Given the description of an element on the screen output the (x, y) to click on. 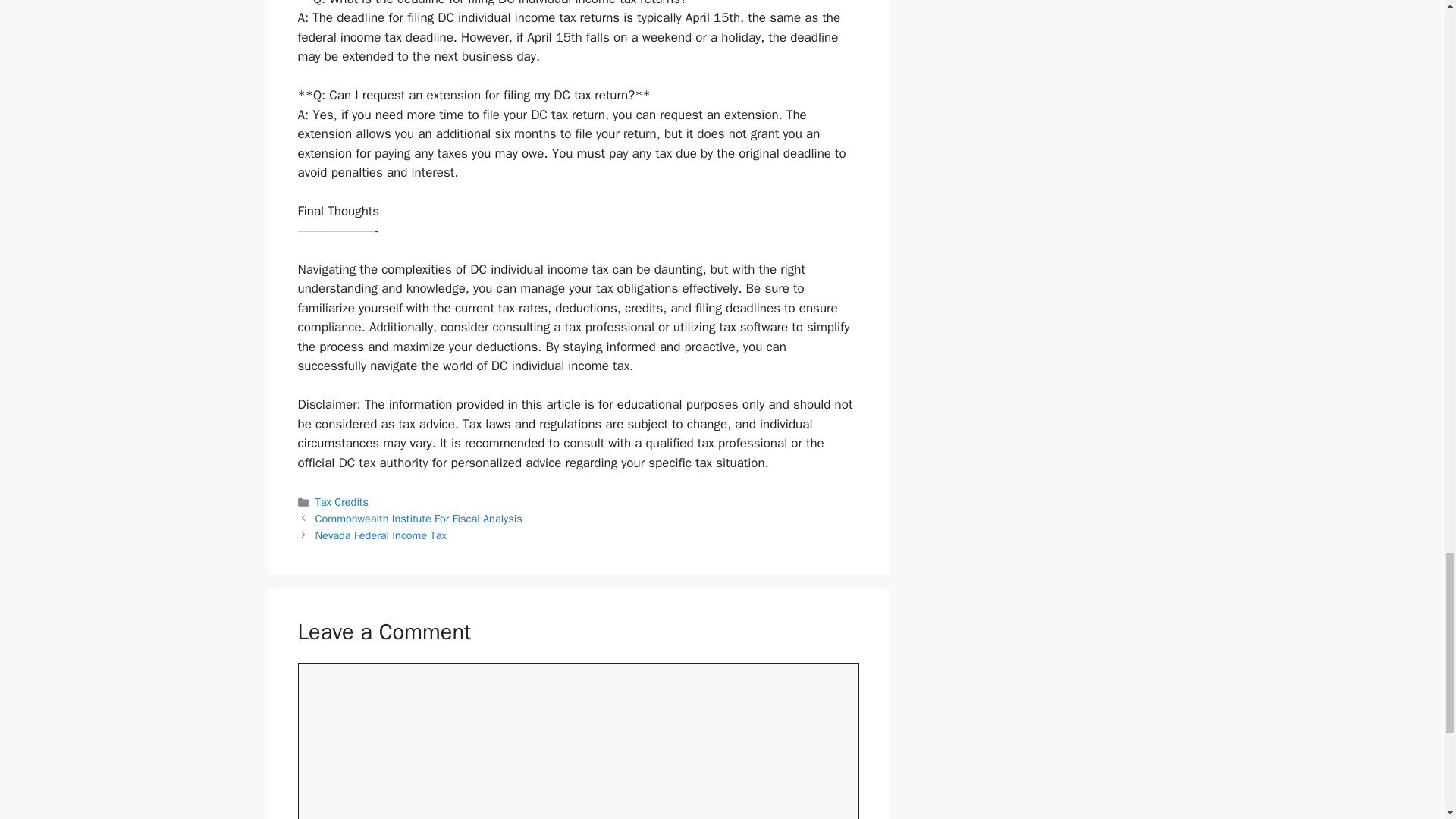
Tax Credits (341, 501)
Nevada Federal Income Tax (380, 535)
Commonwealth Institute For Fiscal Analysis (418, 518)
